Given the description of an element on the screen output the (x, y) to click on. 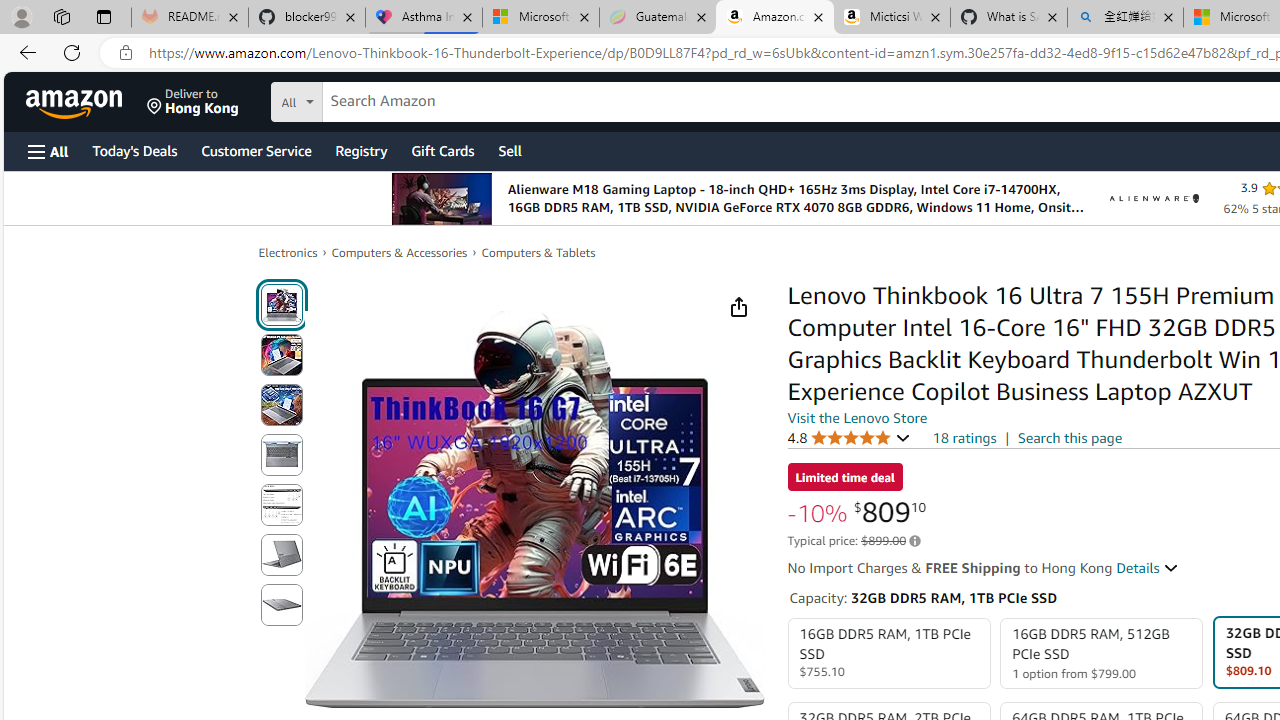
Registry (360, 150)
4.8 4.8 out of 5 stars (849, 437)
Amazon (76, 101)
Details  (1148, 568)
Electronics (287, 252)
Search in (371, 99)
Computers & Accessories (399, 252)
Skip to main content (86, 100)
